Given the description of an element on the screen output the (x, y) to click on. 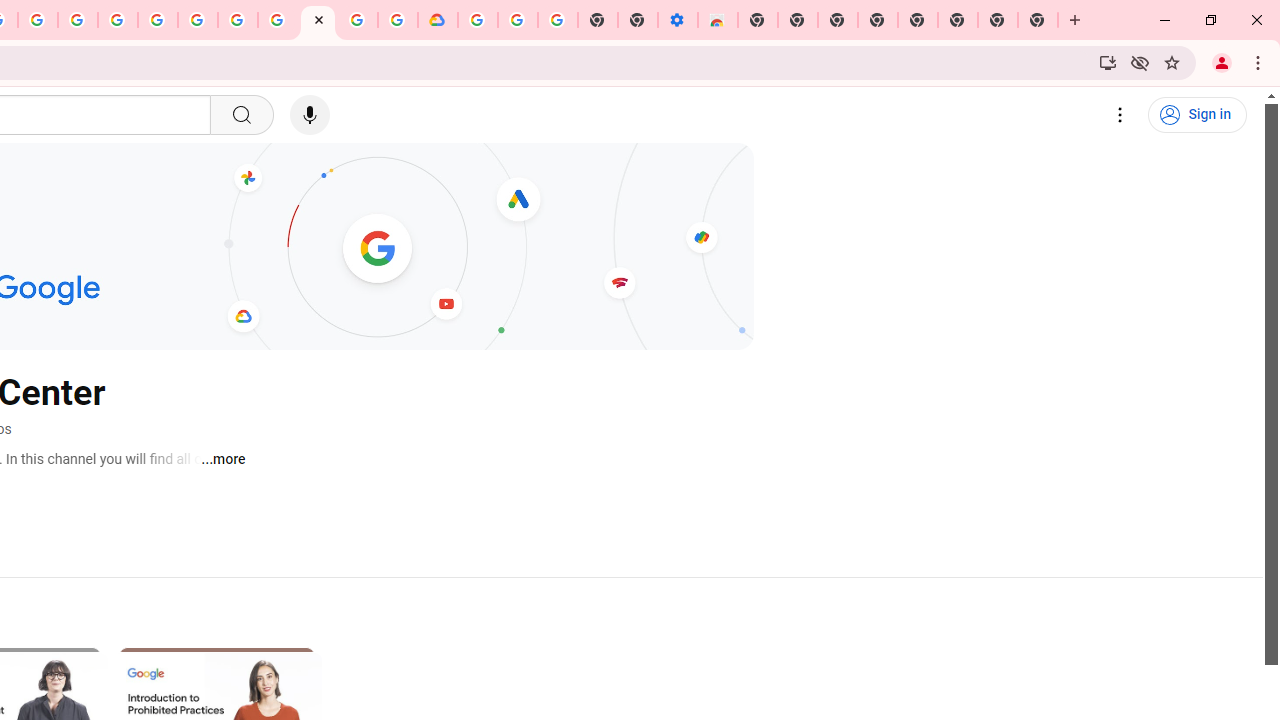
Sign in - Google Accounts (477, 20)
Create your Google Account (37, 20)
Google Transparency Center - YouTube (317, 20)
Android TV Policies and Guidelines - Transparency Center (278, 20)
Create your Google Account (357, 20)
Chrome Web Store - Accessibility extensions (717, 20)
Third-party cookies blocked (1139, 62)
Turn cookies on or off - Computer - Google Account Help (557, 20)
Sign in - Google Accounts (157, 20)
Google Account Help (517, 20)
Google Account Help (237, 20)
